Given the description of an element on the screen output the (x, y) to click on. 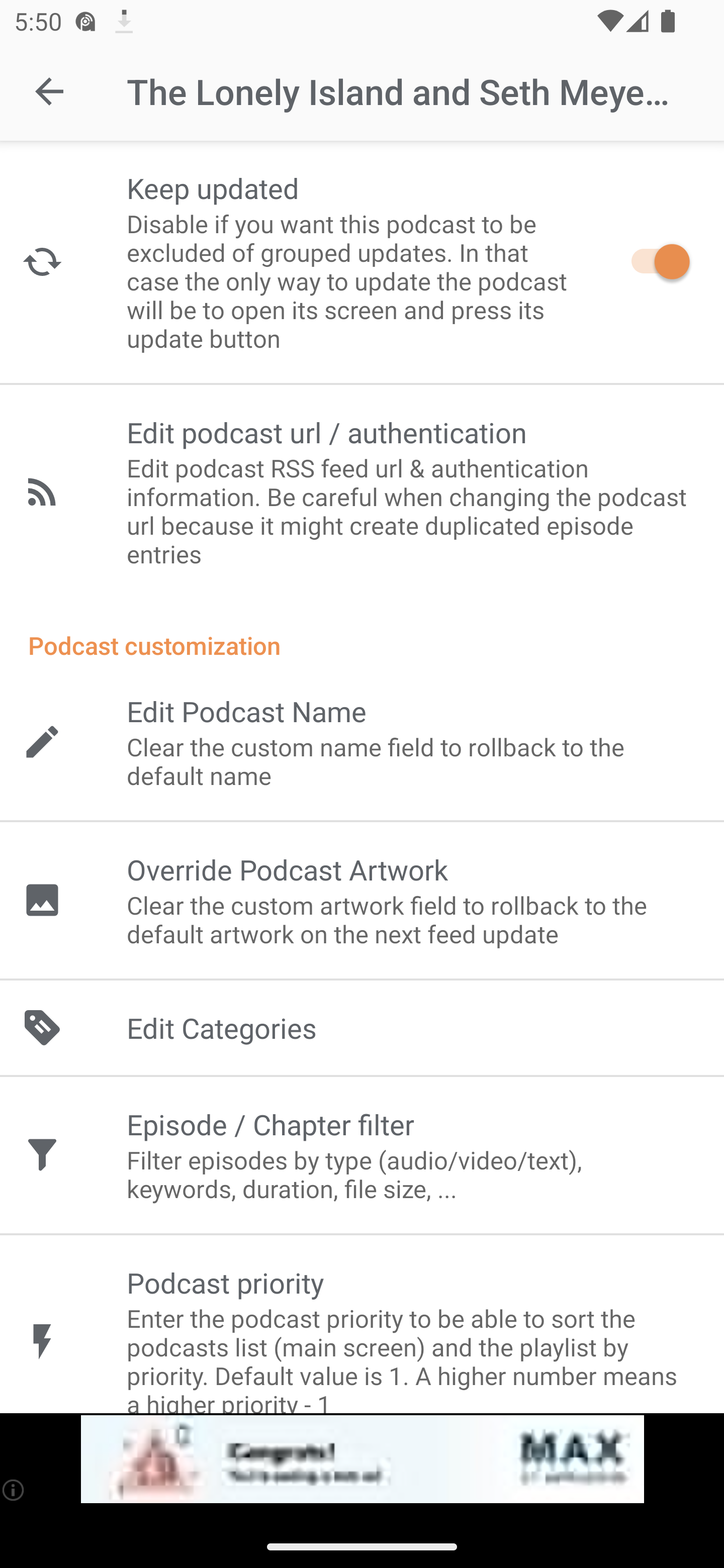
Navigate up (49, 91)
Edit Categories (362, 1027)
app-monetization (362, 1459)
(i) (14, 1489)
